Given the description of an element on the screen output the (x, y) to click on. 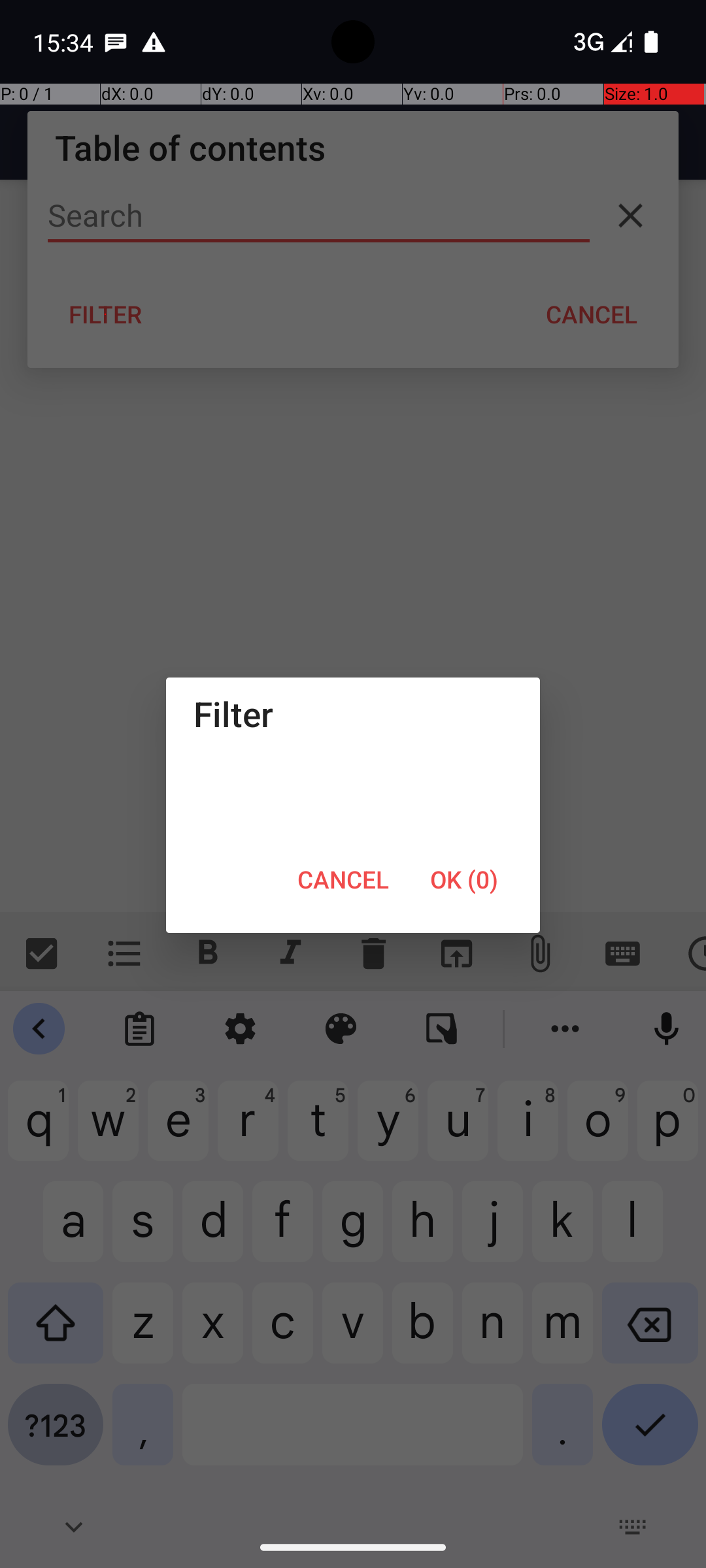
Filter Element type: android.widget.TextView (352, 713)
OK (0) Element type: android.widget.Button (464, 879)
